Given the description of an element on the screen output the (x, y) to click on. 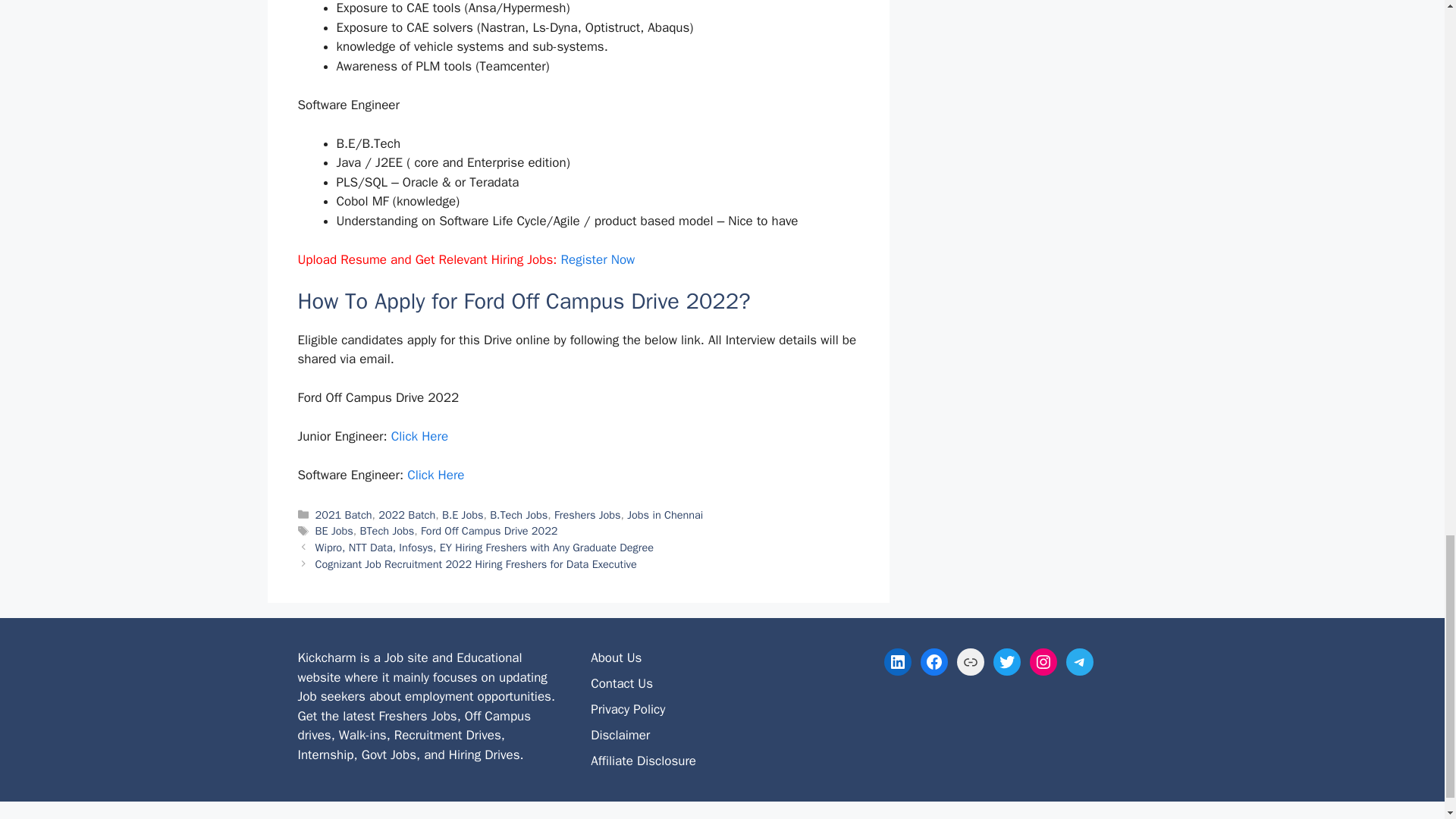
Click Here (419, 436)
Register Now (597, 259)
Freshers Jobs (587, 514)
BE Jobs (334, 530)
B.Tech Jobs (518, 514)
B.E Jobs (462, 514)
Jobs in Chennai (665, 514)
Ford Off Campus Drive 2022 (488, 530)
BTech Jobs (386, 530)
2022 Batch (406, 514)
Click Here (435, 474)
2021 Batch (343, 514)
